Given the description of an element on the screen output the (x, y) to click on. 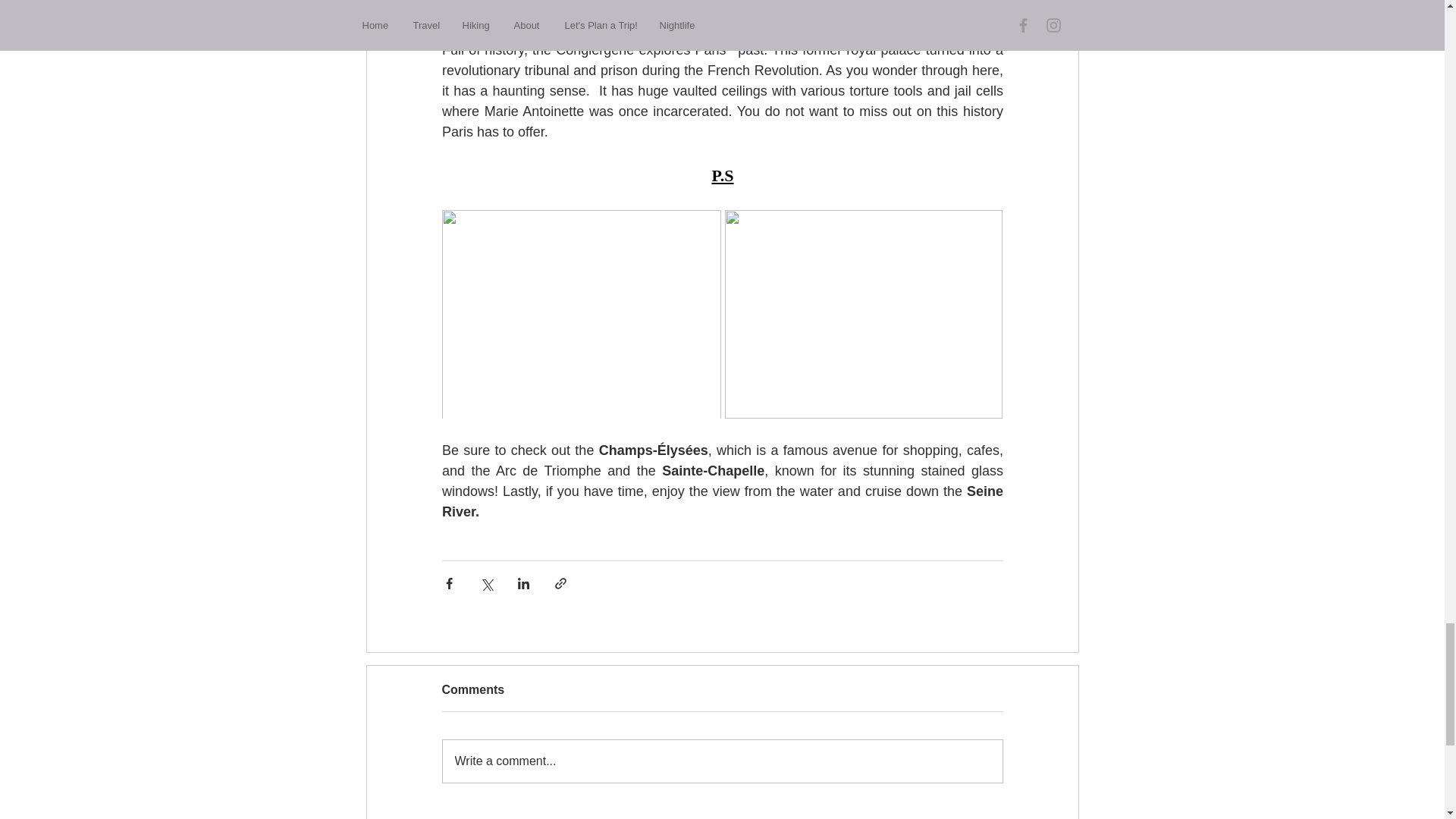
Write a comment... (722, 761)
